Given the description of an element on the screen output the (x, y) to click on. 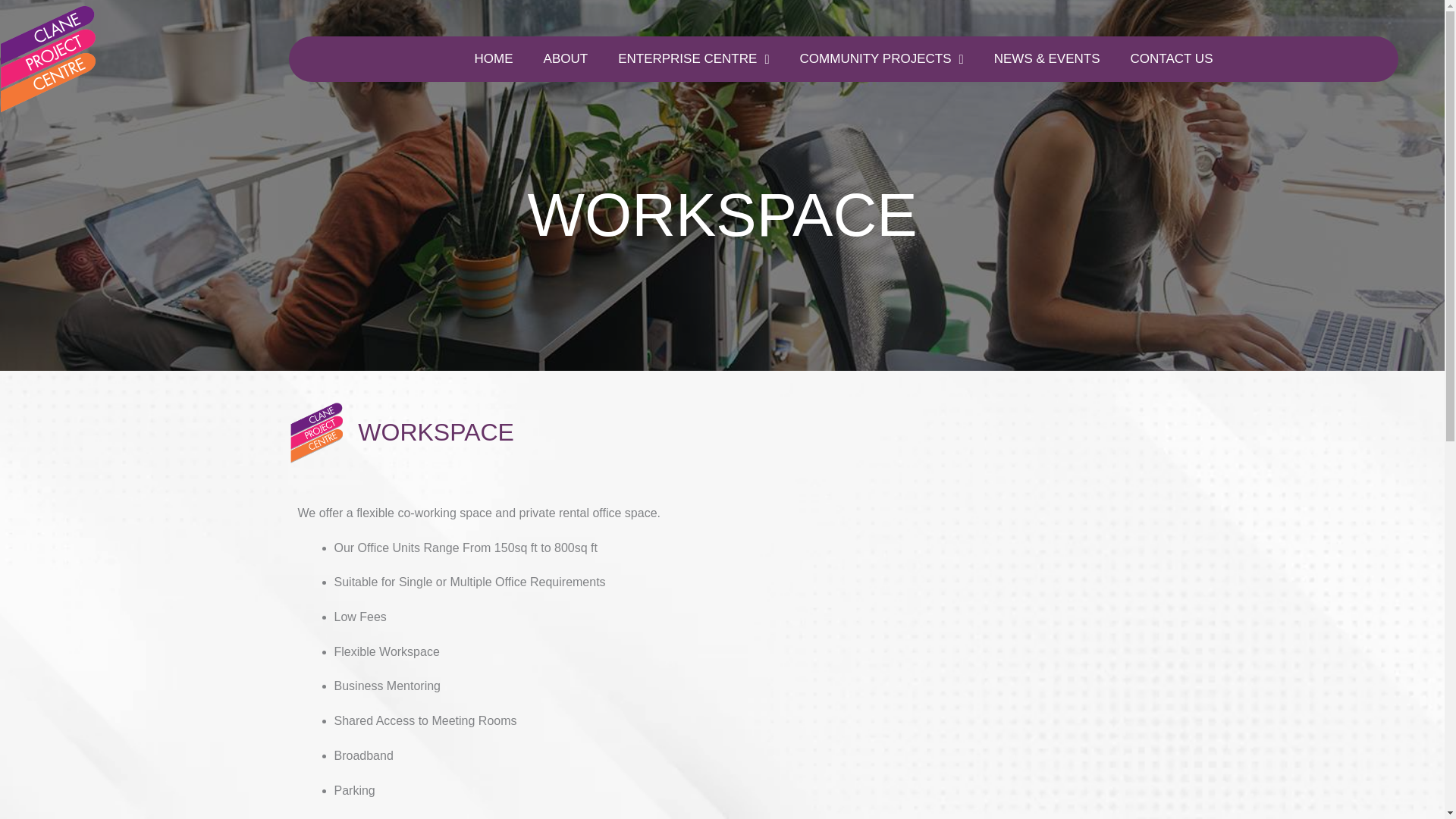
HOME (494, 58)
COMMUNITY PROJECTS (881, 58)
ENTERPRISE CENTRE (693, 58)
ABOUT (566, 58)
CONTACT US (1171, 58)
